Given the description of an element on the screen output the (x, y) to click on. 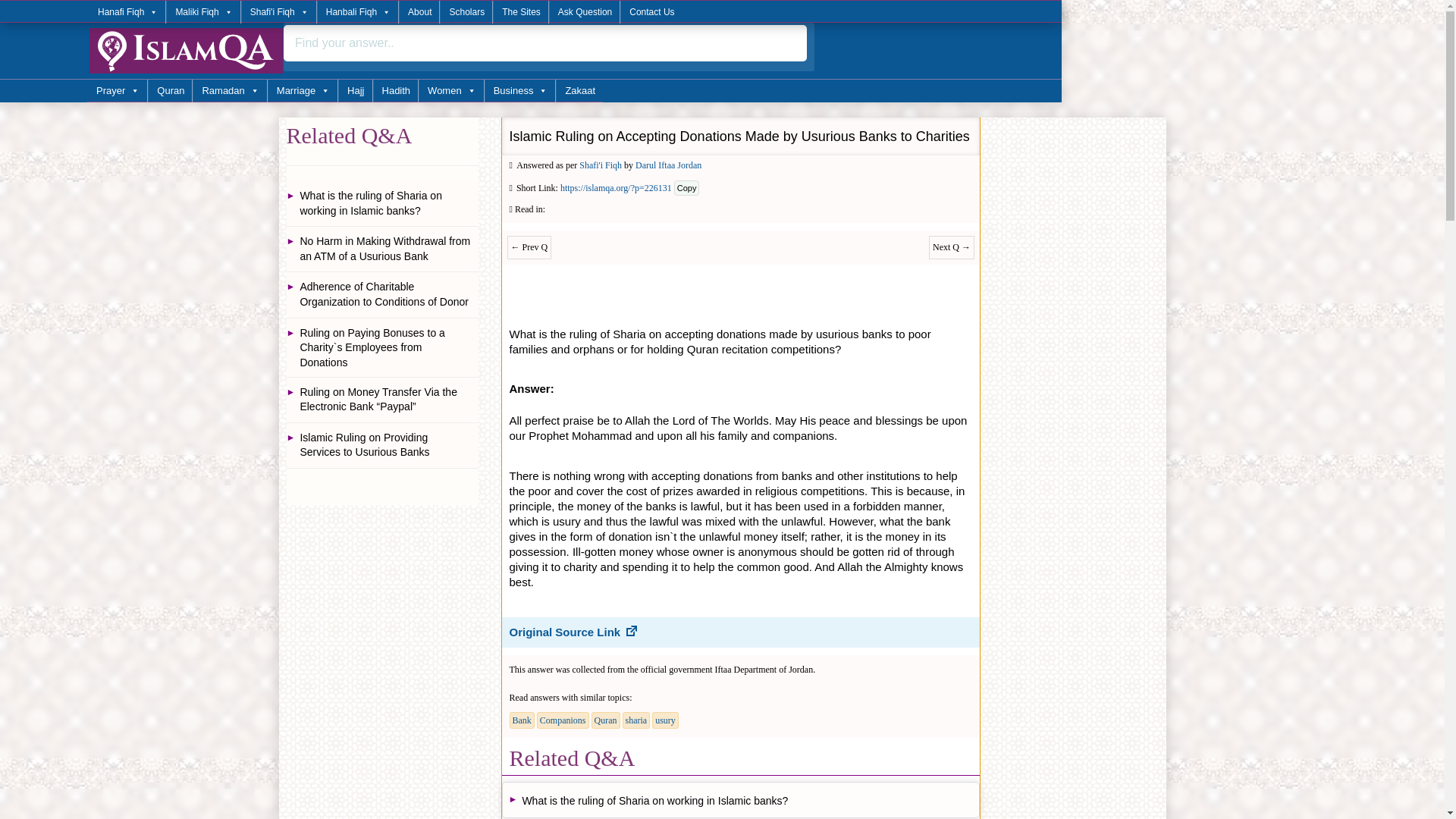
Maliki Fiqh (202, 11)
Hanafi Fiqh (126, 11)
